Given the description of an element on the screen output the (x, y) to click on. 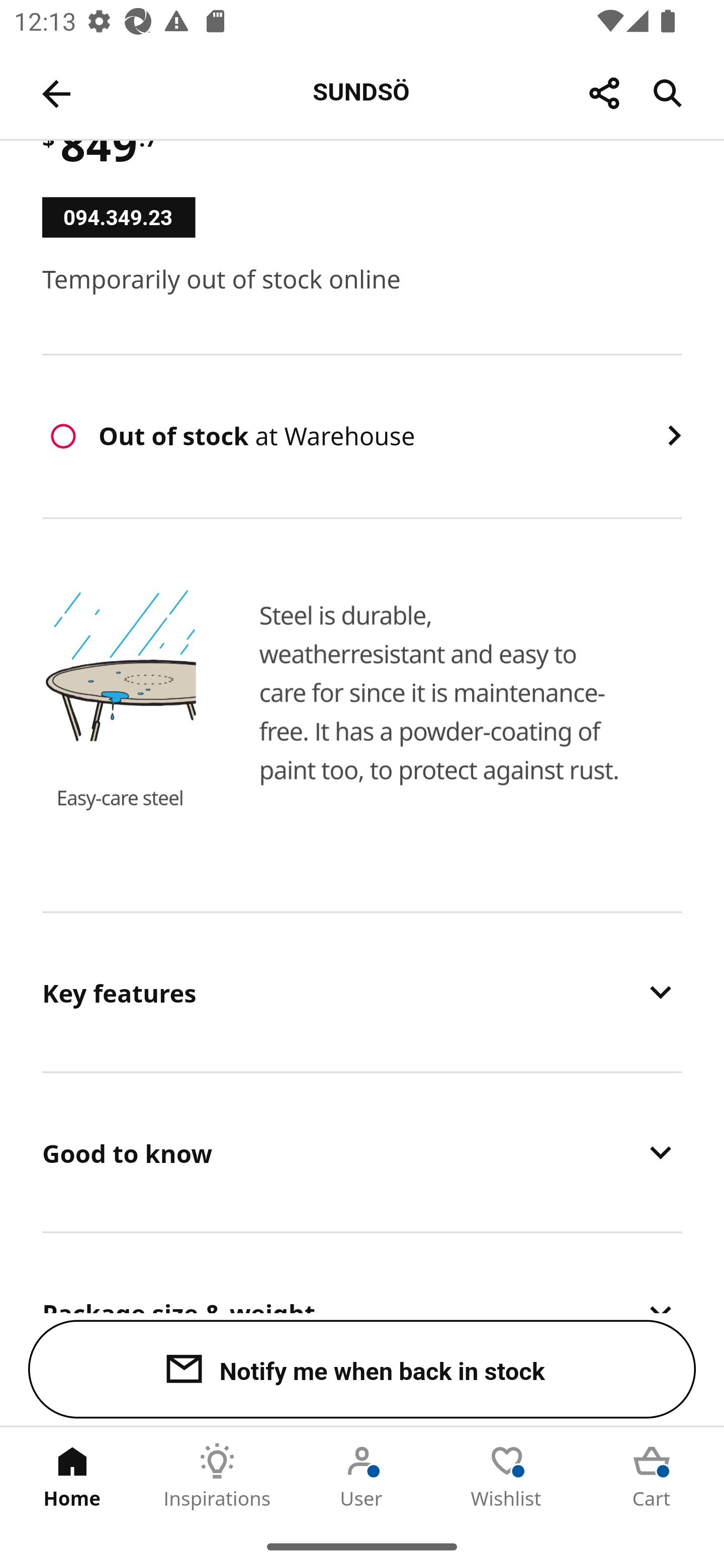
Out of stock at Warehouse (361, 436)
Key features (361, 991)
Good to know (361, 1152)
Notify me when back in stock (361, 1369)
Home
Tab 1 of 5 (72, 1476)
Inspirations
Tab 2 of 5 (216, 1476)
User
Tab 3 of 5 (361, 1476)
Wishlist
Tab 4 of 5 (506, 1476)
Cart
Tab 5 of 5 (651, 1476)
